Given the description of an element on the screen output the (x, y) to click on. 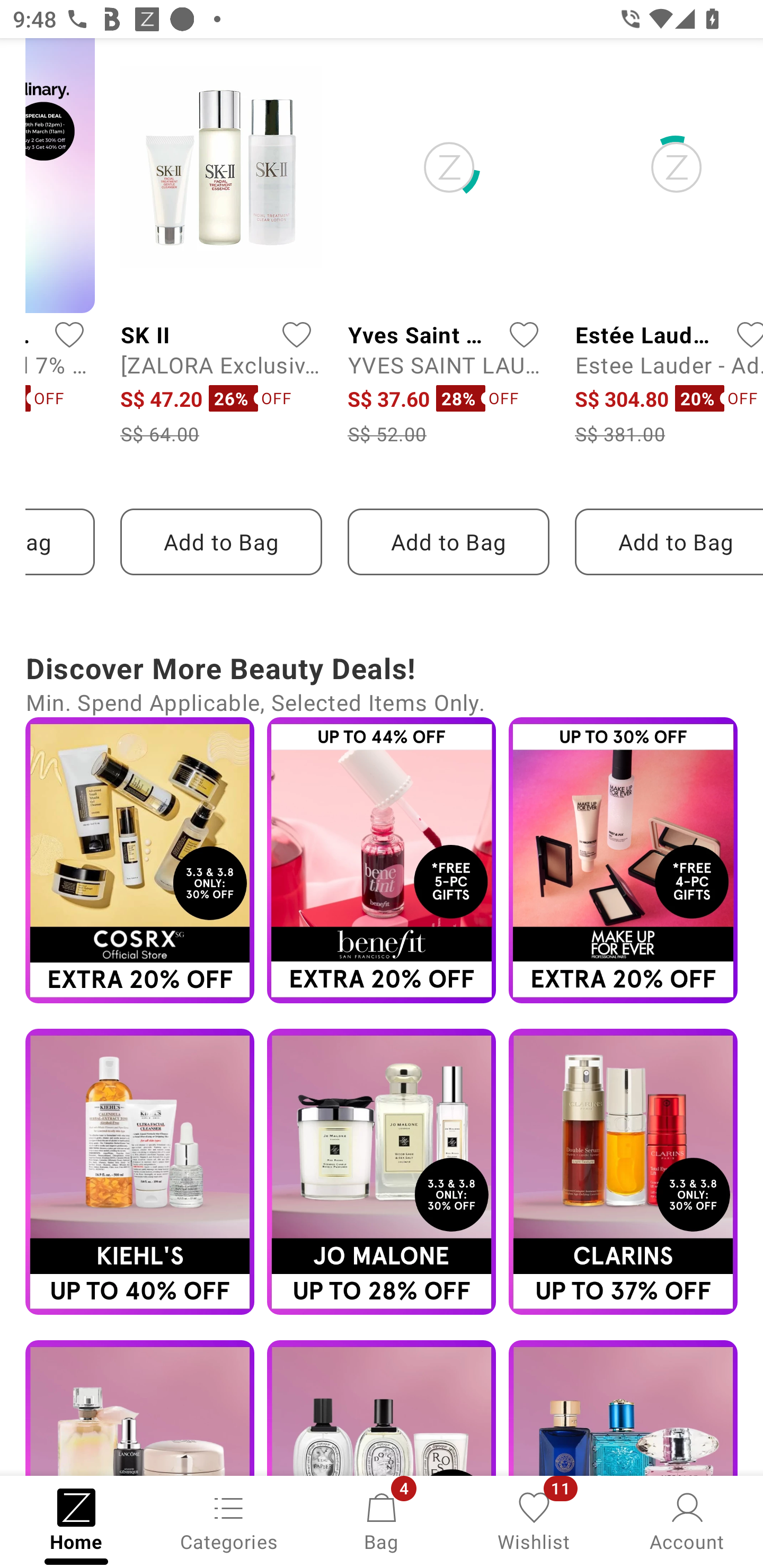
Add to Bag (220, 541)
Add to Bag (448, 541)
Add to Bag (668, 541)
Campaign banner (139, 859)
Campaign banner (381, 859)
Campaign banner (622, 859)
Campaign banner (139, 1171)
Campaign banner (381, 1171)
Campaign banner (622, 1171)
Campaign banner (139, 1407)
Campaign banner (381, 1407)
Campaign banner (622, 1407)
Categories (228, 1519)
Bag, 4 new notifications Bag (381, 1519)
Wishlist, 11 new notifications Wishlist (533, 1519)
Account (686, 1519)
